Given the description of an element on the screen output the (x, y) to click on. 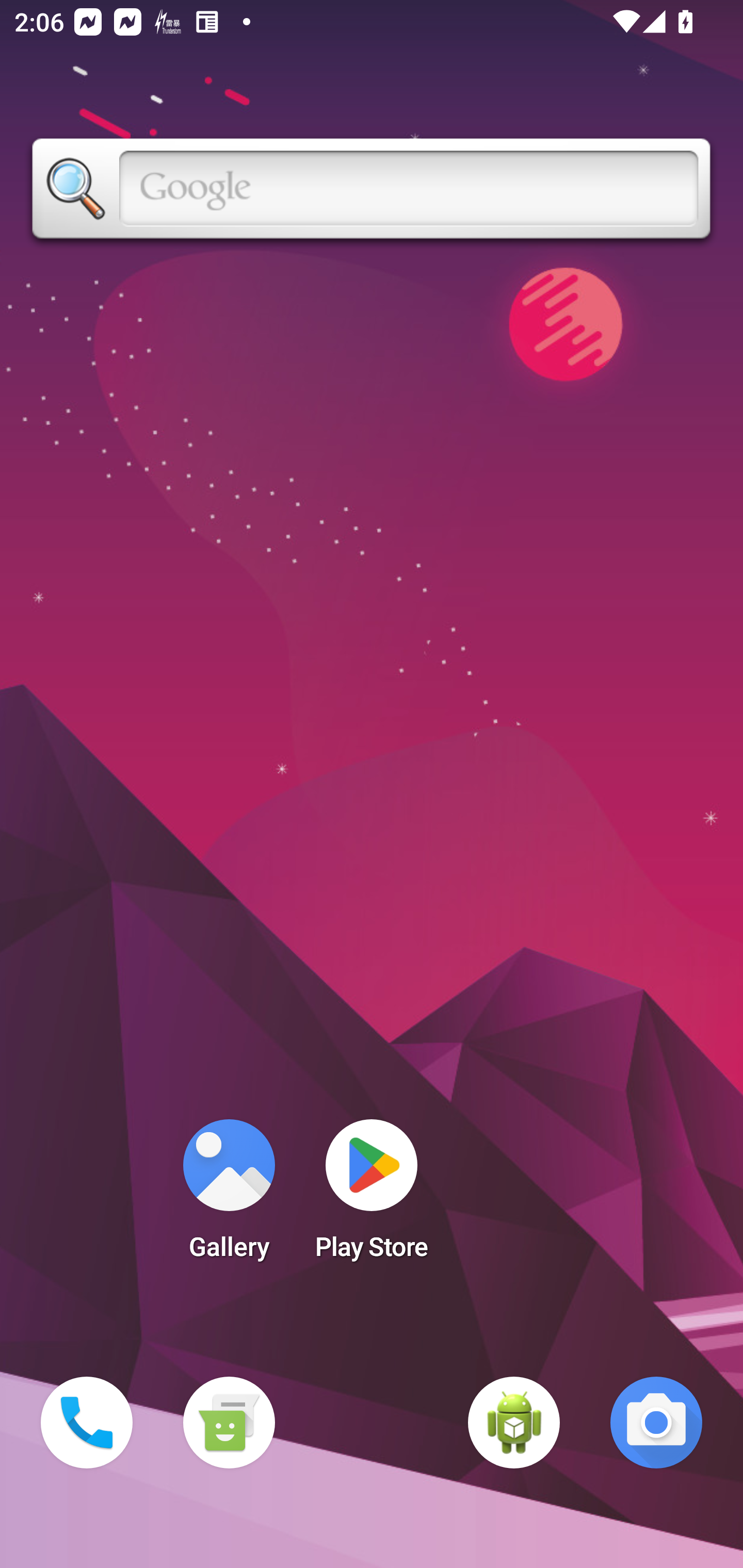
Gallery (228, 1195)
Play Store (371, 1195)
Phone (86, 1422)
Messaging (228, 1422)
WebView Browser Tester (513, 1422)
Camera (656, 1422)
